Given the description of an element on the screen output the (x, y) to click on. 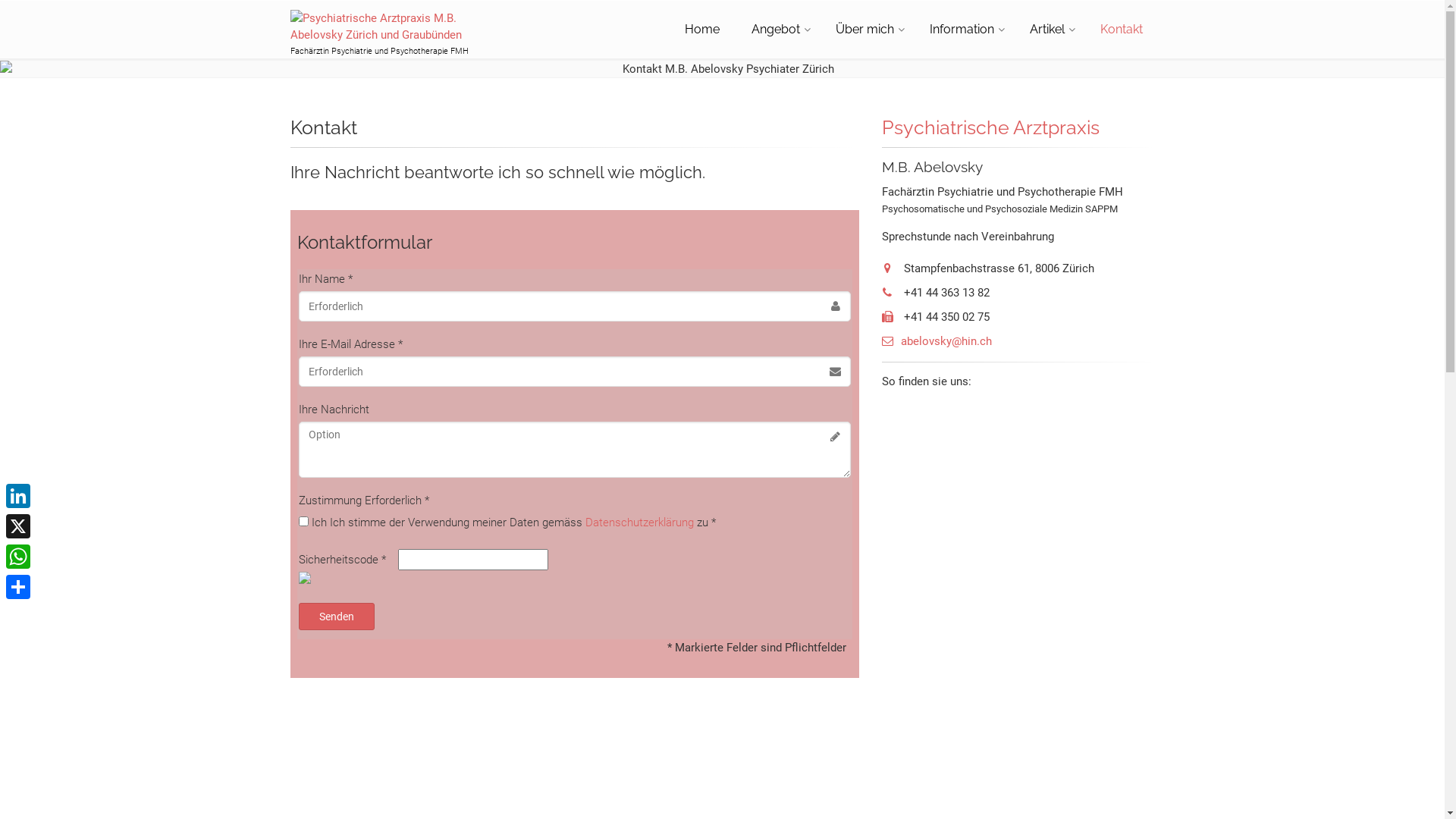
Kontakt Element type: text (1120, 29)
+41 44 350 02 75 Element type: text (934, 316)
Home Element type: text (701, 29)
Share Element type: text (18, 586)
LinkedIn Element type: text (18, 495)
WhatsApp Element type: text (18, 556)
abelovsky@hin.ch Element type: text (936, 341)
Angebot Element type: text (776, 29)
+41 44 363 13 82 Element type: text (934, 292)
Information Element type: text (963, 29)
X Element type: text (18, 526)
Artikel Element type: text (1048, 29)
